Given the description of an element on the screen output the (x, y) to click on. 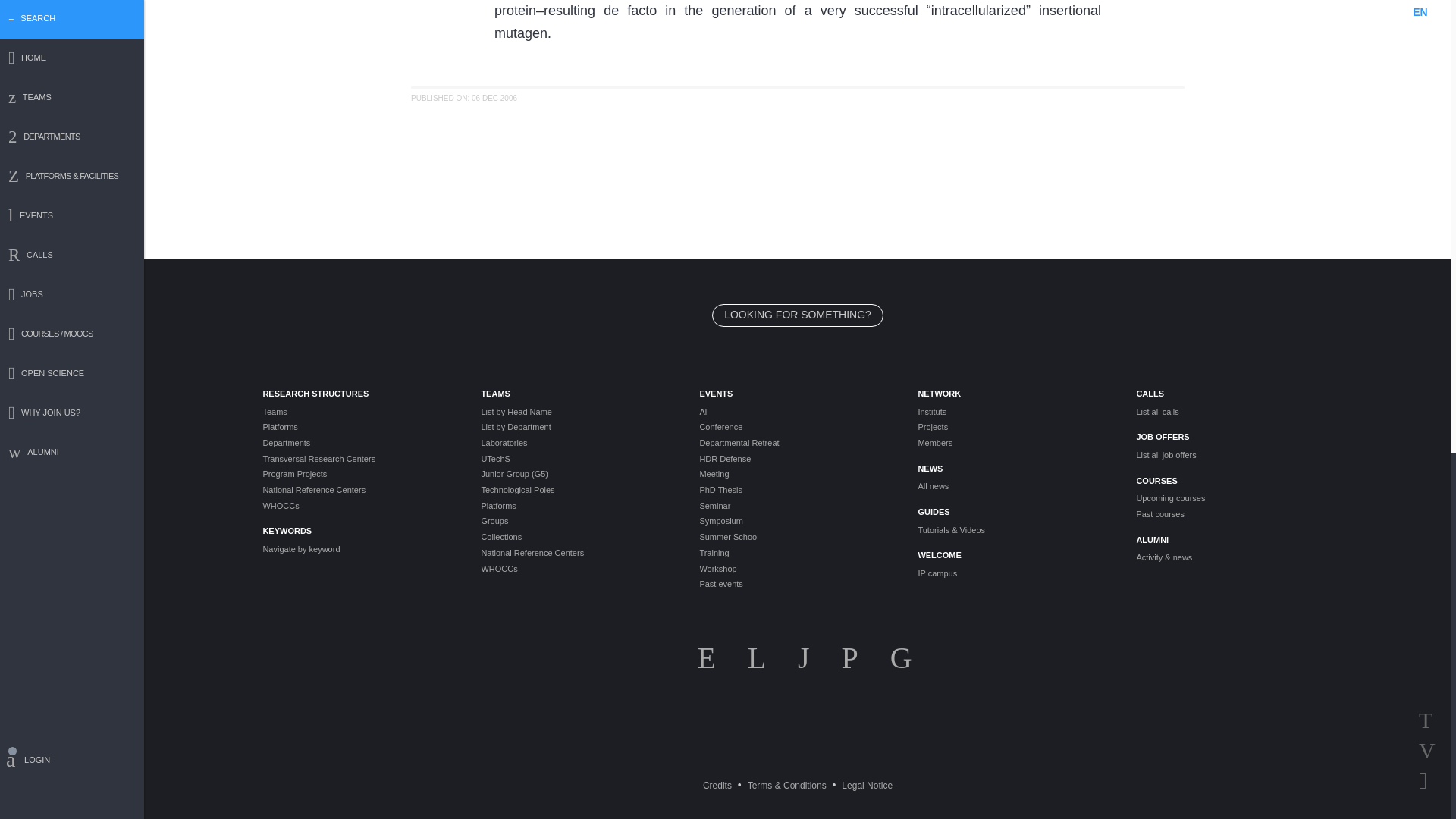
PUBLISHED ON: 06 DEC 2006 (463, 98)
Departments (360, 442)
Teams (360, 411)
Platforms (360, 427)
